Given the description of an element on the screen output the (x, y) to click on. 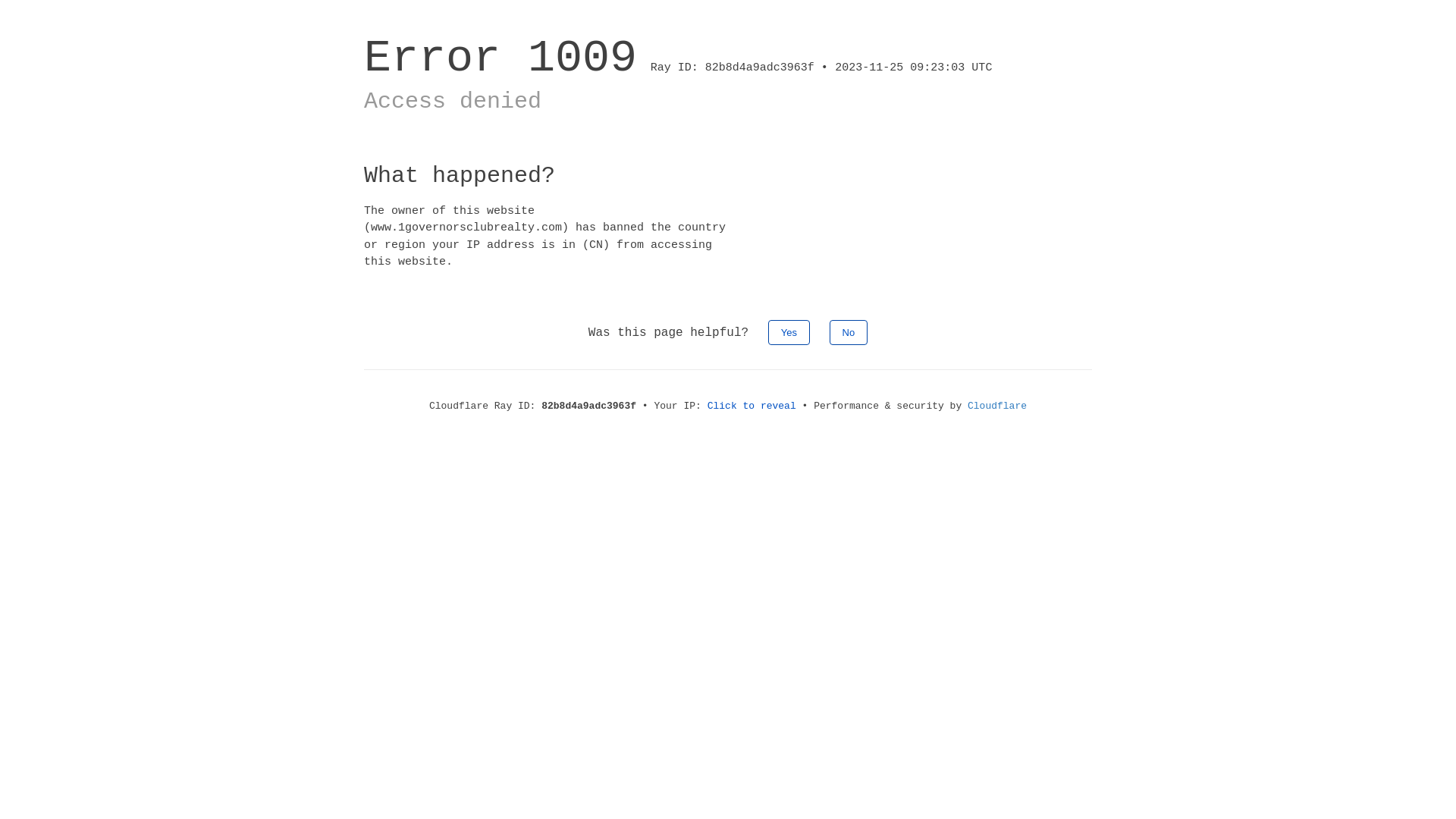
Yes Element type: text (788, 332)
Cloudflare Element type: text (996, 405)
Click to reveal Element type: text (751, 405)
No Element type: text (848, 332)
